Given the description of an element on the screen output the (x, y) to click on. 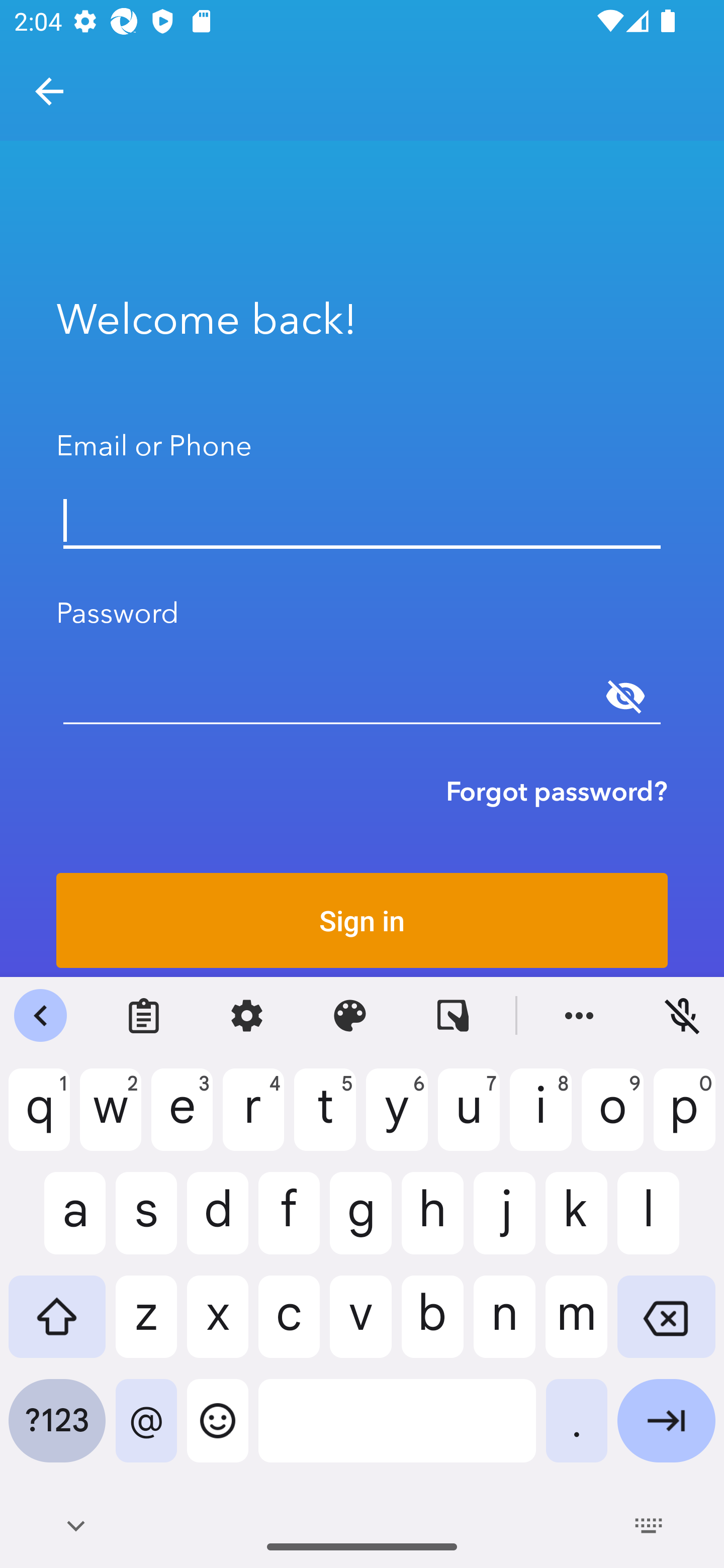
Navigate up (49, 91)
Show password (625, 695)
Forgot password? (556, 790)
Sign in (361, 920)
